Given the description of an element on the screen output the (x, y) to click on. 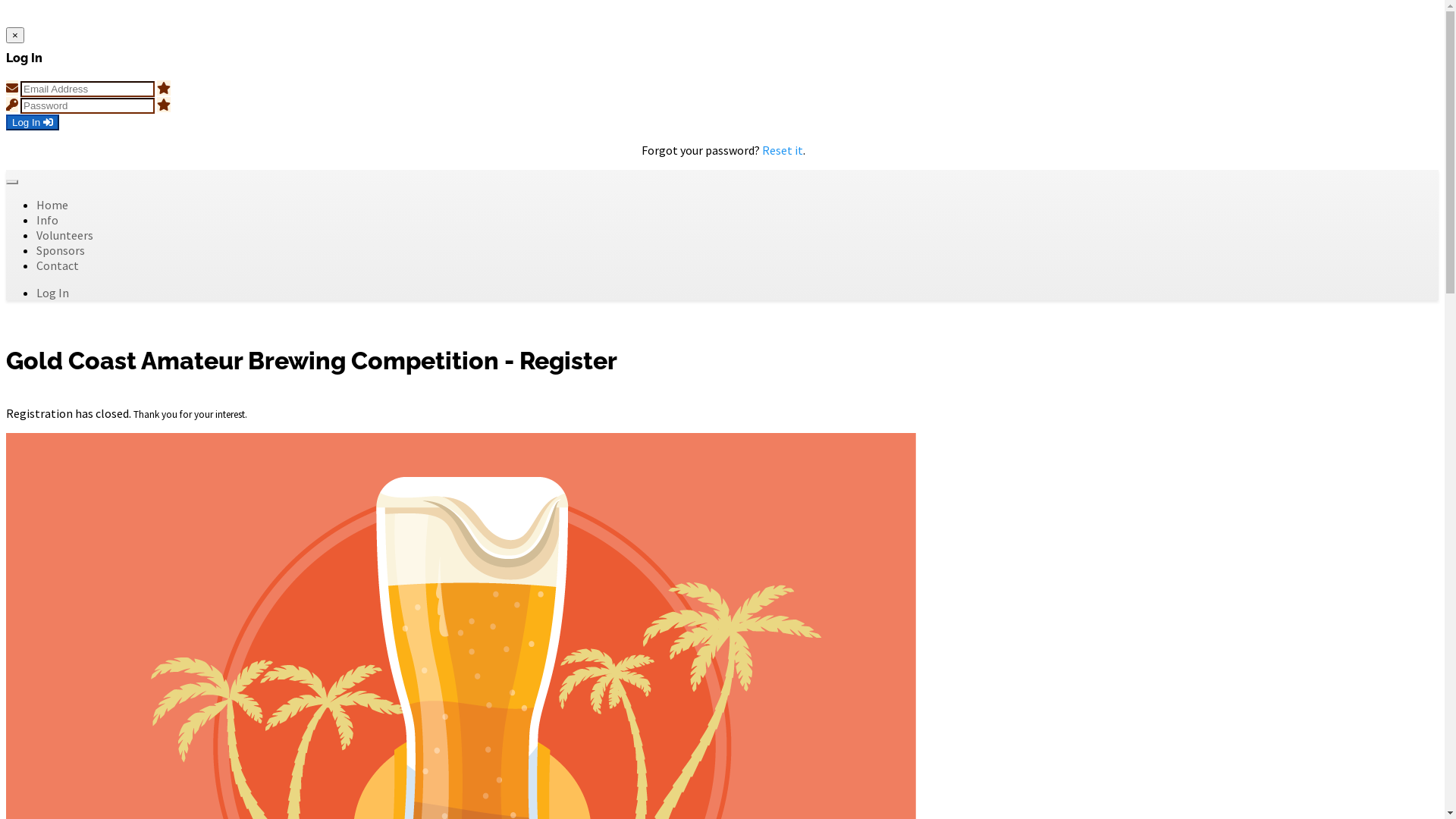
Home Element type: text (52, 204)
Log In Element type: text (52, 292)
Info Element type: text (47, 219)
Log In Element type: text (32, 122)
Volunteers Element type: text (64, 234)
Contact Element type: text (57, 265)
Sponsors Element type: text (60, 249)
Reset it Element type: text (782, 149)
Toggle navigation Element type: text (12, 181)
